Given the description of an element on the screen output the (x, y) to click on. 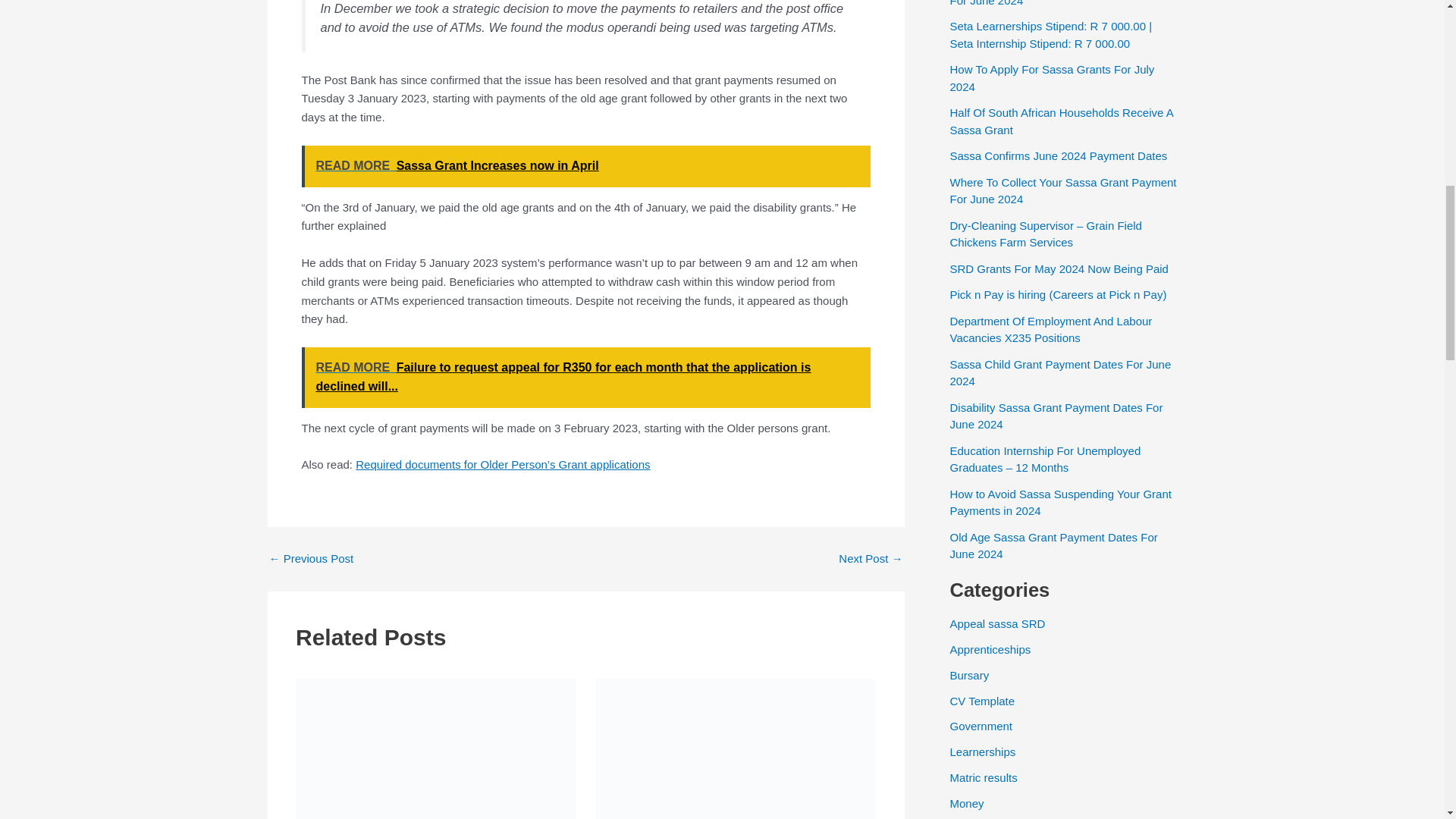
READ MORE  Sassa Grant Increases now in April (585, 166)
Unisa Registration Now Open for 2023 (310, 558)
